Given the description of an element on the screen output the (x, y) to click on. 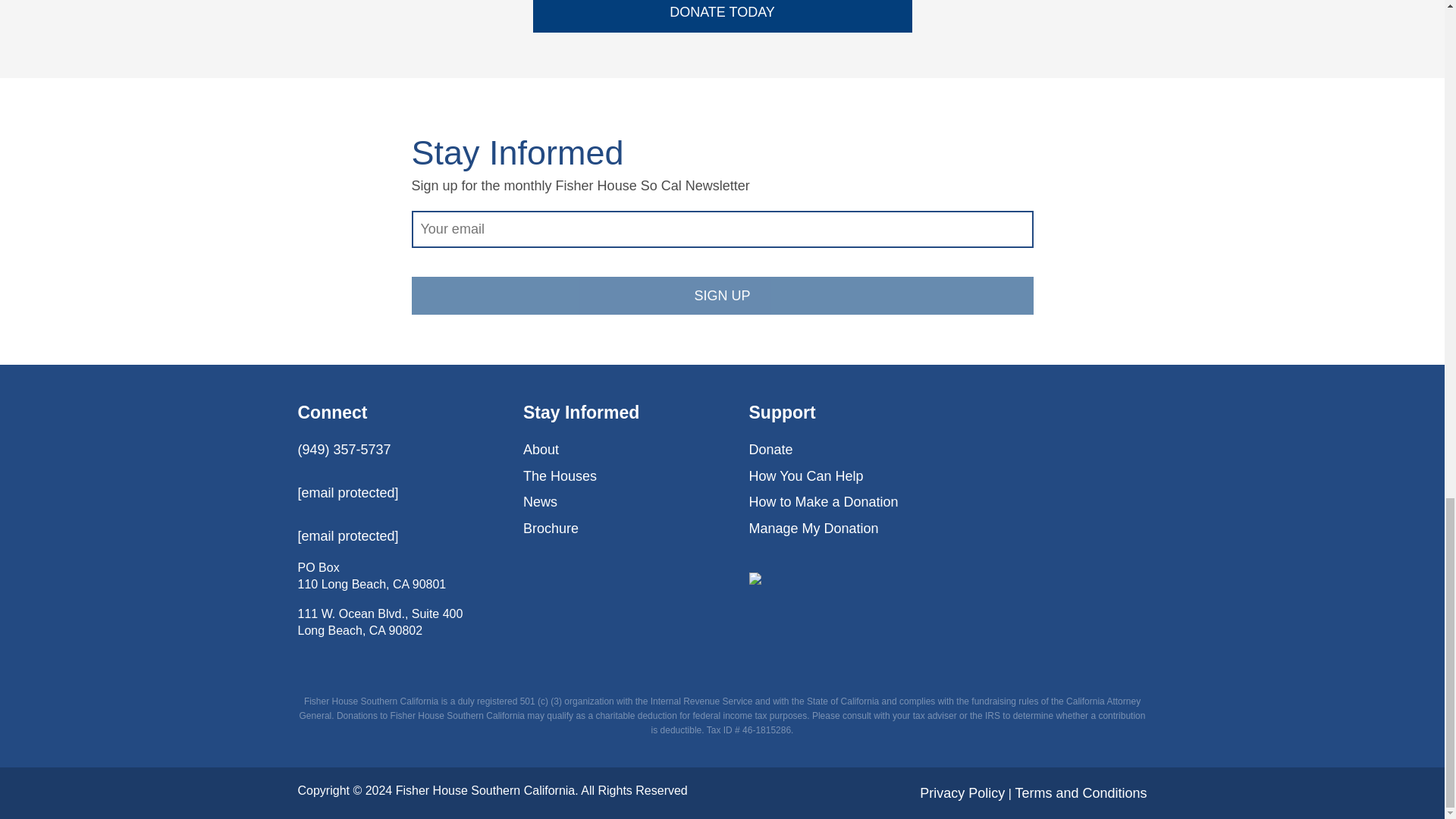
DONATE TODAY (721, 16)
SIGN UP (721, 295)
SIGN UP (721, 295)
